Given the description of an element on the screen output the (x, y) to click on. 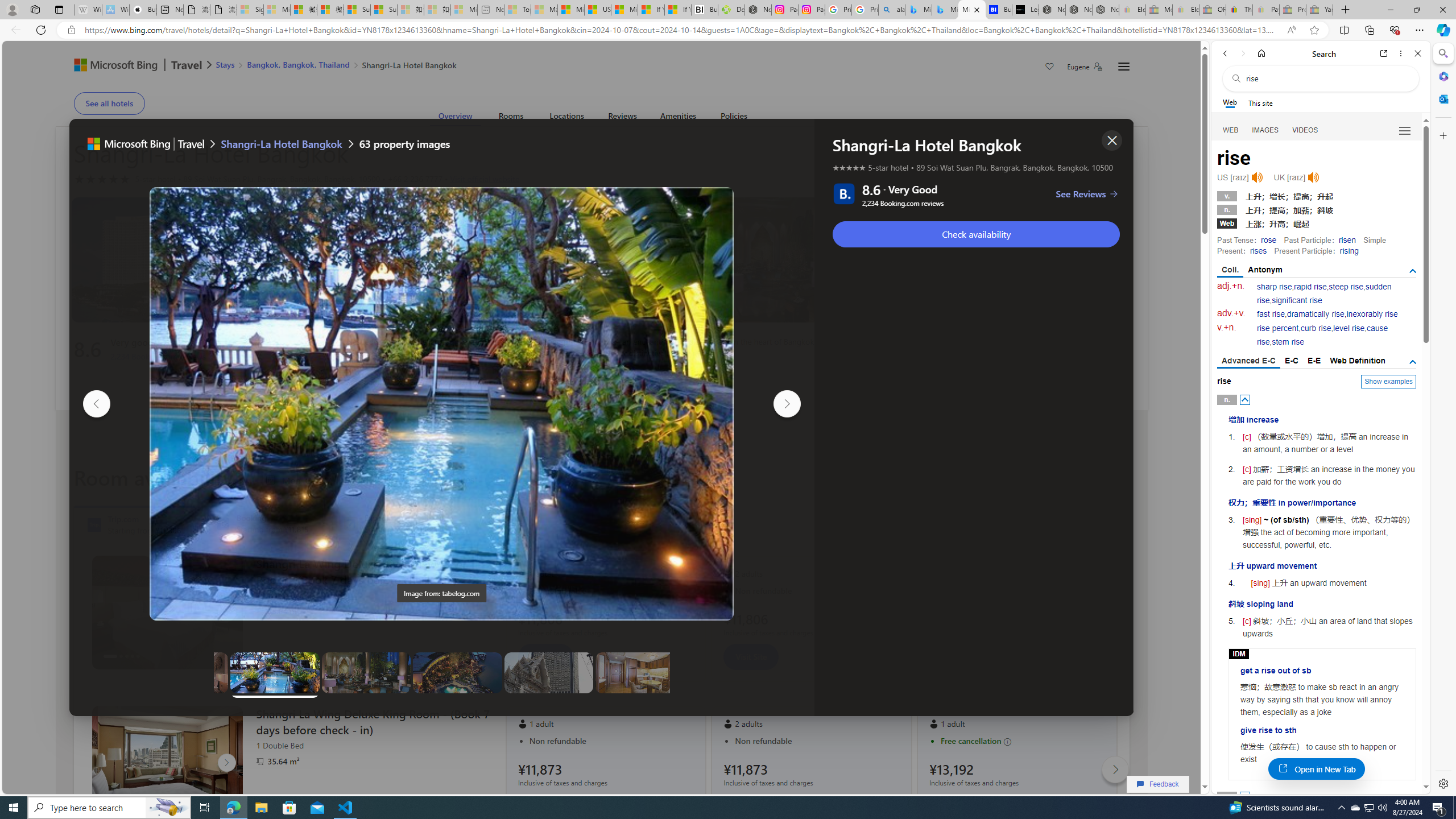
Press Room - eBay Inc. - Sleeping (1292, 9)
fast rise (1270, 313)
